Given the description of an element on the screen output the (x, y) to click on. 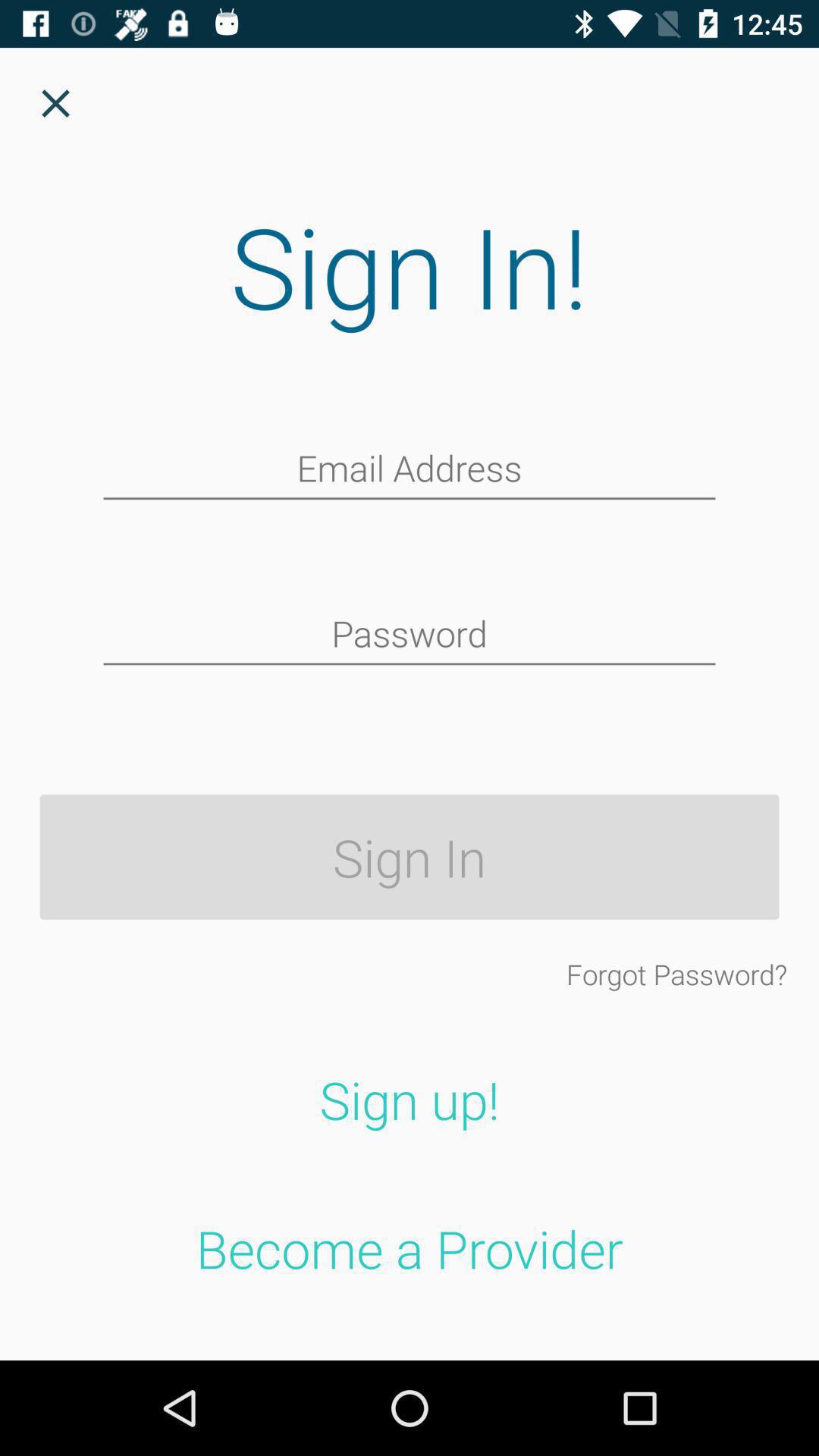
choose the icon below the sign up! (409, 1247)
